Given the description of an element on the screen output the (x, y) to click on. 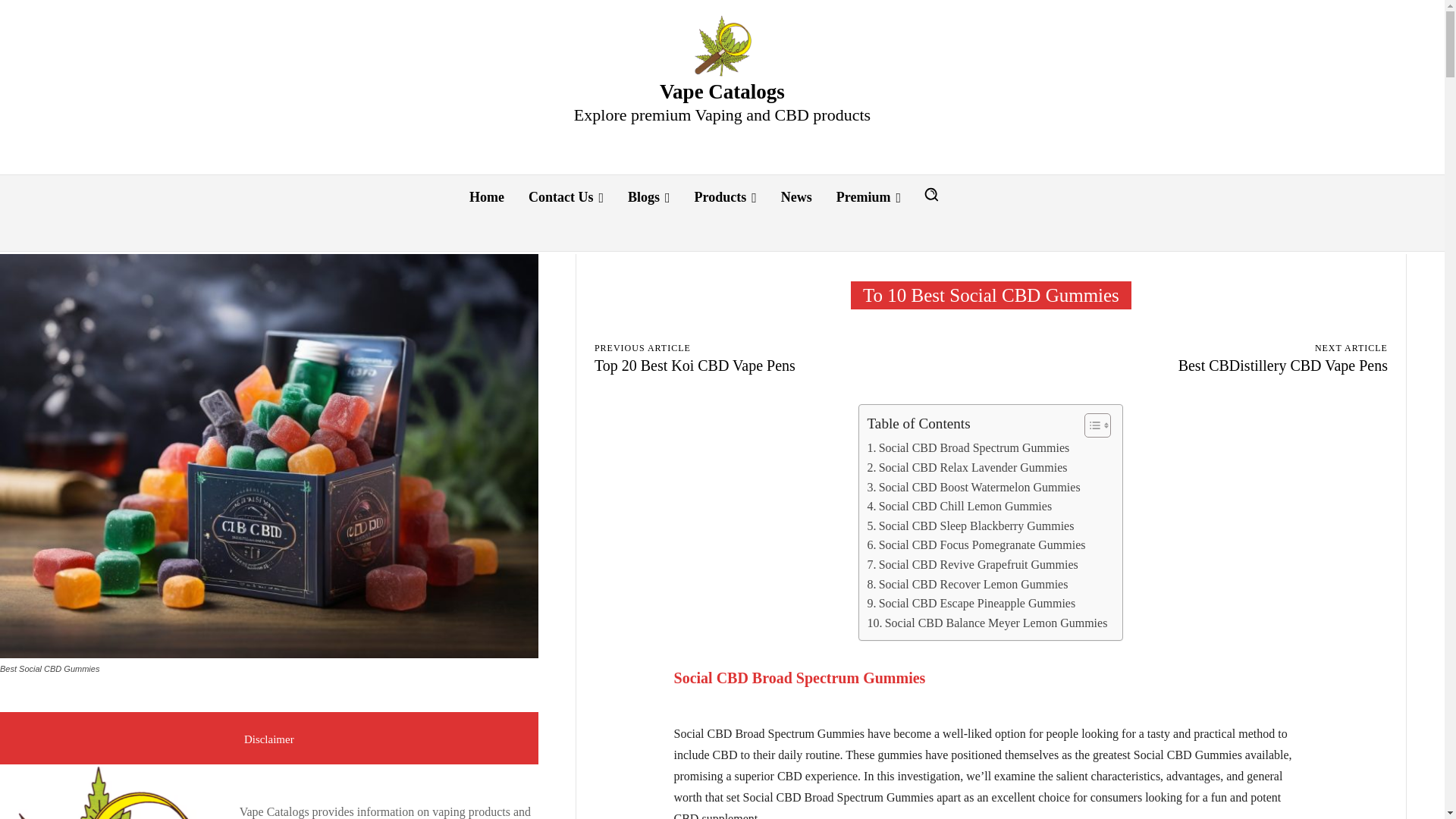
Home (486, 197)
Products (725, 197)
Disclaimer (269, 737)
Vape Catalogs (722, 45)
Premium (868, 197)
Contact Us (565, 197)
Social CBD Broad Spectrum Gummies (967, 447)
News (796, 197)
Disclaimer (269, 737)
Blogs (648, 197)
